Given the description of an element on the screen output the (x, y) to click on. 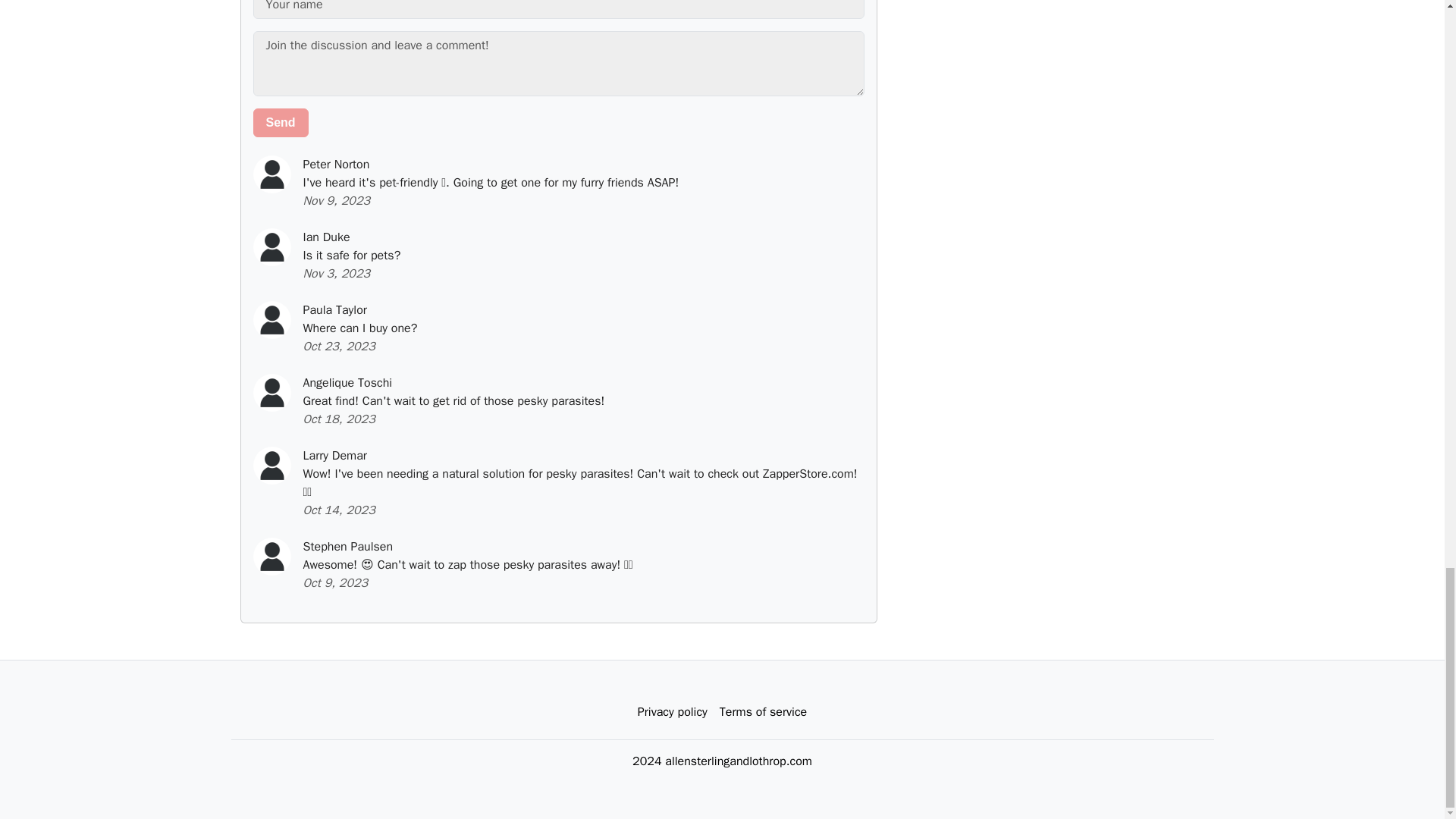
Terms of service (762, 711)
Send (280, 122)
Privacy policy (672, 711)
Send (280, 122)
